Given the description of an element on the screen output the (x, y) to click on. 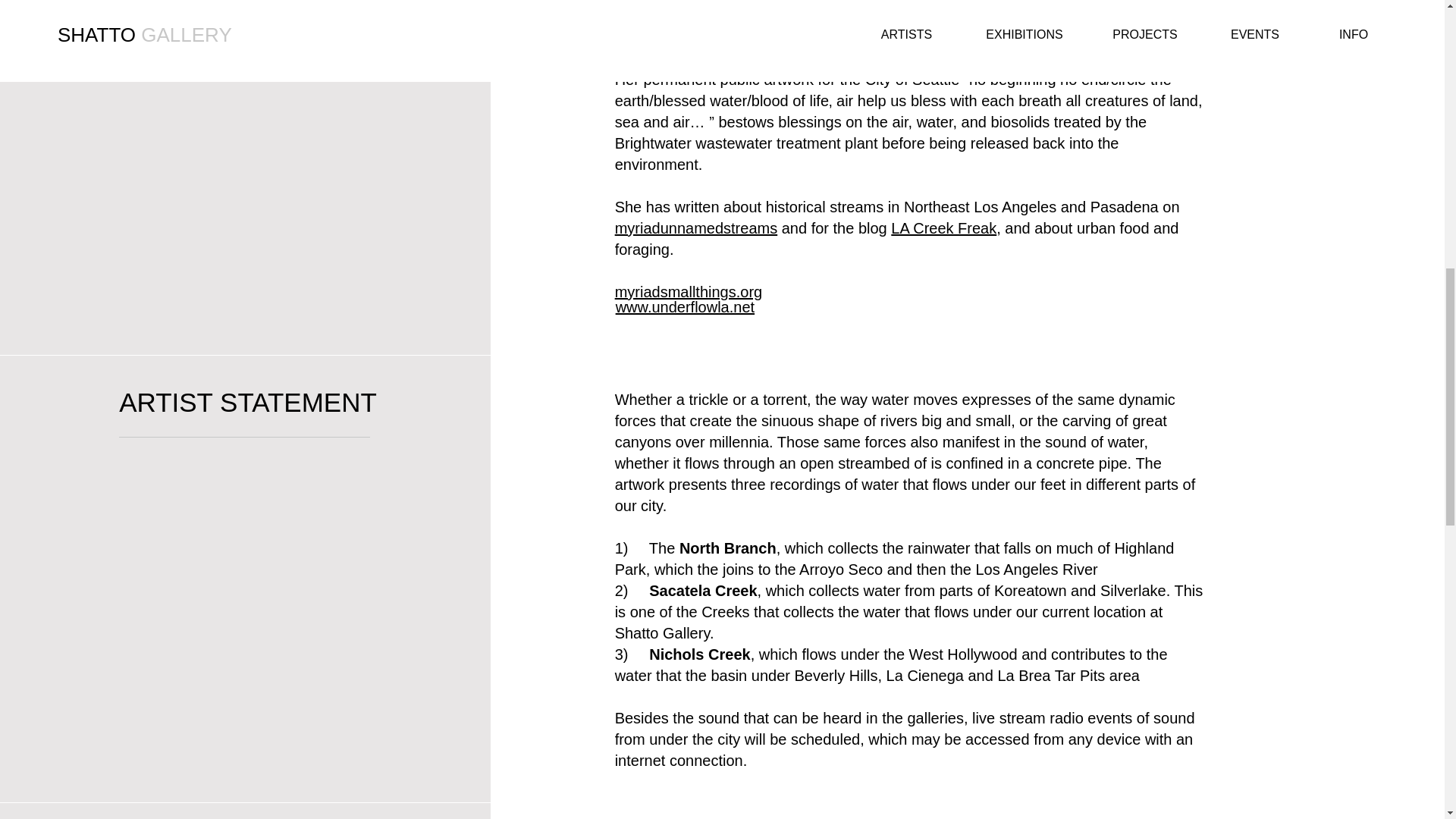
myriadunnamedstreams (695, 228)
www.underflowla.net (684, 306)
myriadsmallthings.org (688, 291)
LA Creek Freak (943, 228)
